Given the description of an element on the screen output the (x, y) to click on. 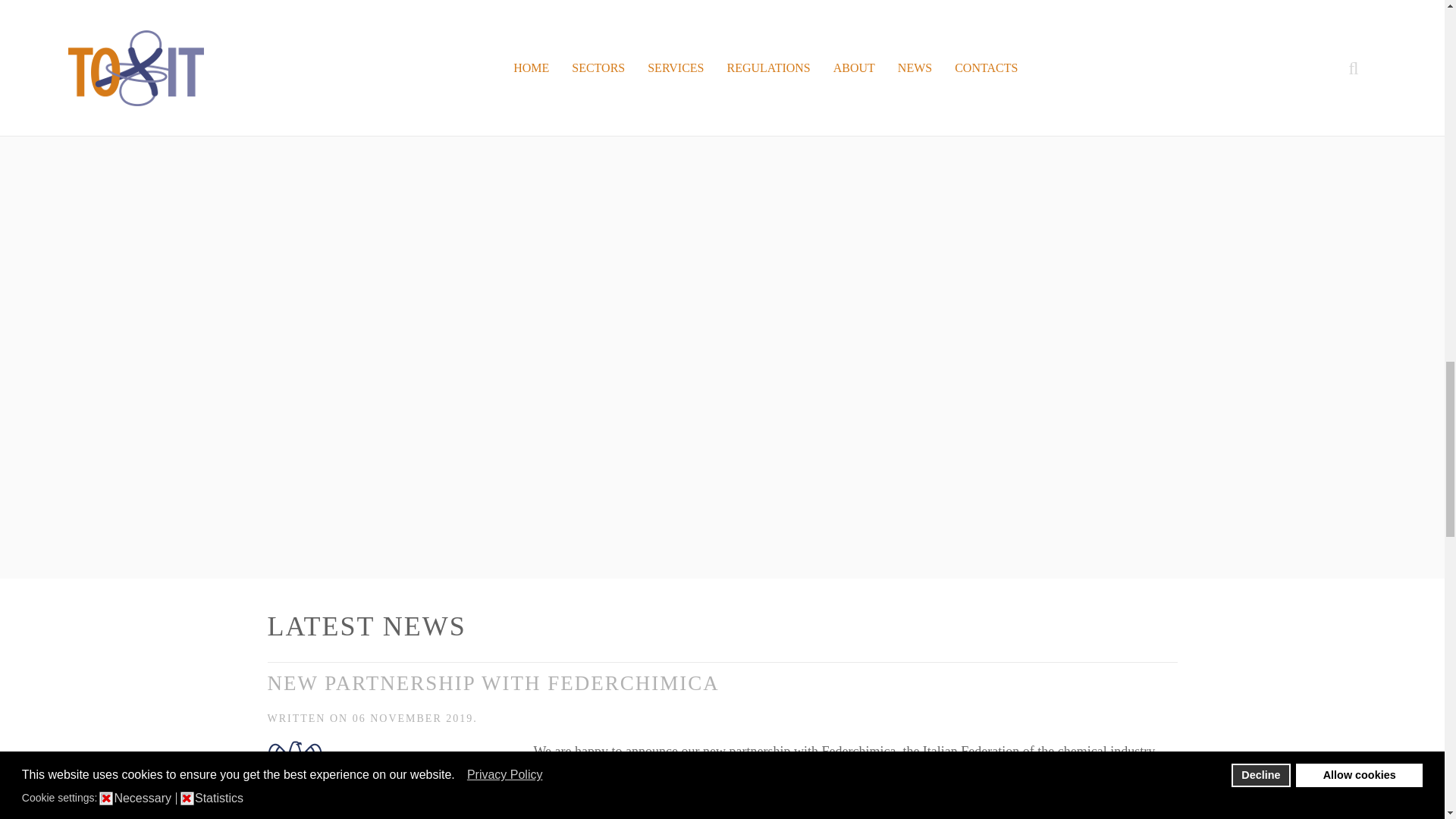
REACH group at Federchimica (392, 767)
New partnership with Federchimica (492, 682)
